Given the description of an element on the screen output the (x, y) to click on. 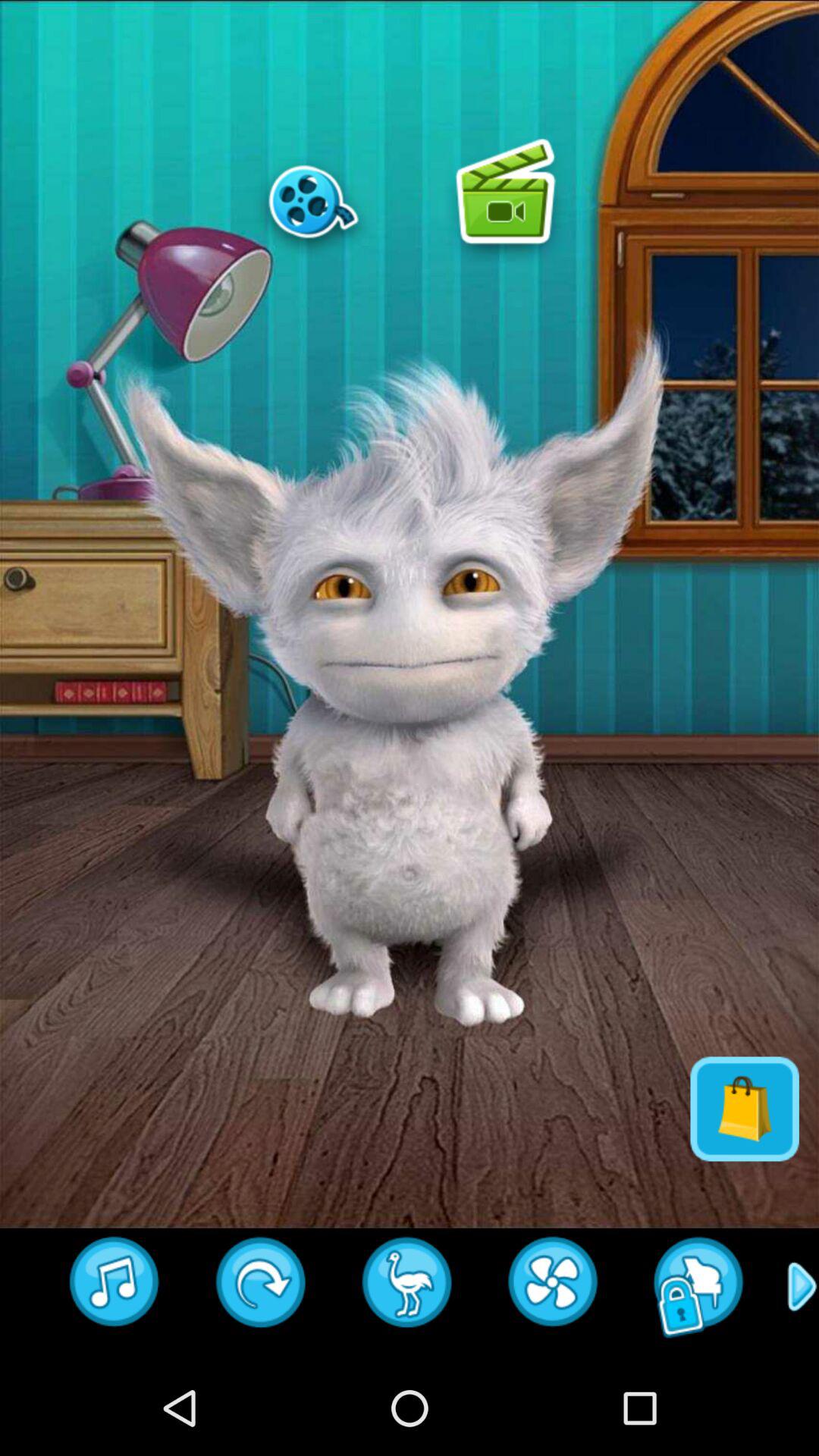
insert animal (407, 1287)
